Given the description of an element on the screen output the (x, y) to click on. 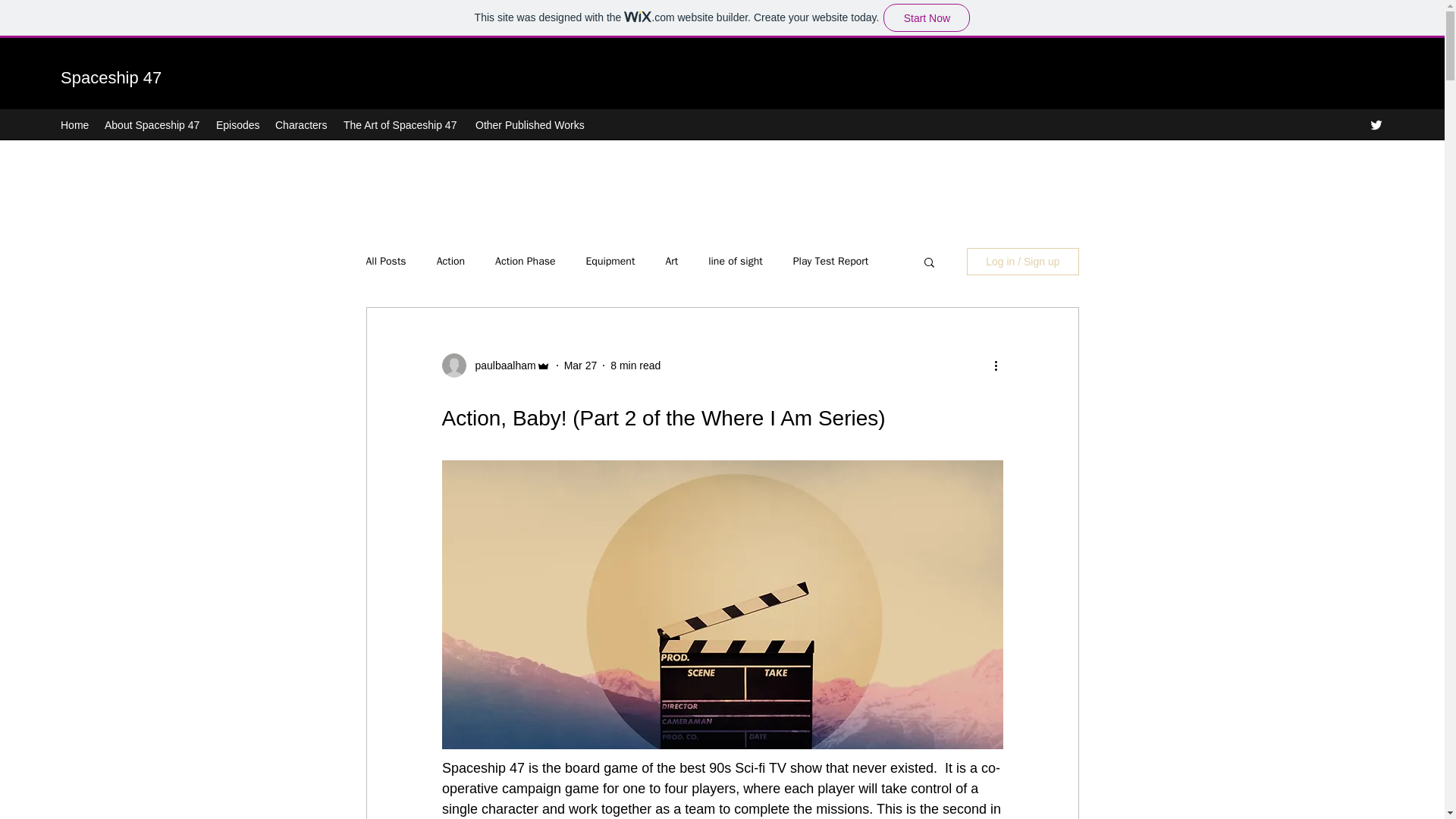
Mar 27 (580, 365)
Action (450, 261)
Other Published Works (529, 124)
Home (74, 124)
About Spaceship 47 (152, 124)
All Posts (385, 261)
Characters (301, 124)
Spaceship 47 (111, 76)
Action Phase (524, 261)
8 min read (635, 365)
Equipment (610, 261)
Art (671, 261)
line of sight (734, 261)
paulbaalham (500, 365)
Episodes (237, 124)
